Given the description of an element on the screen output the (x, y) to click on. 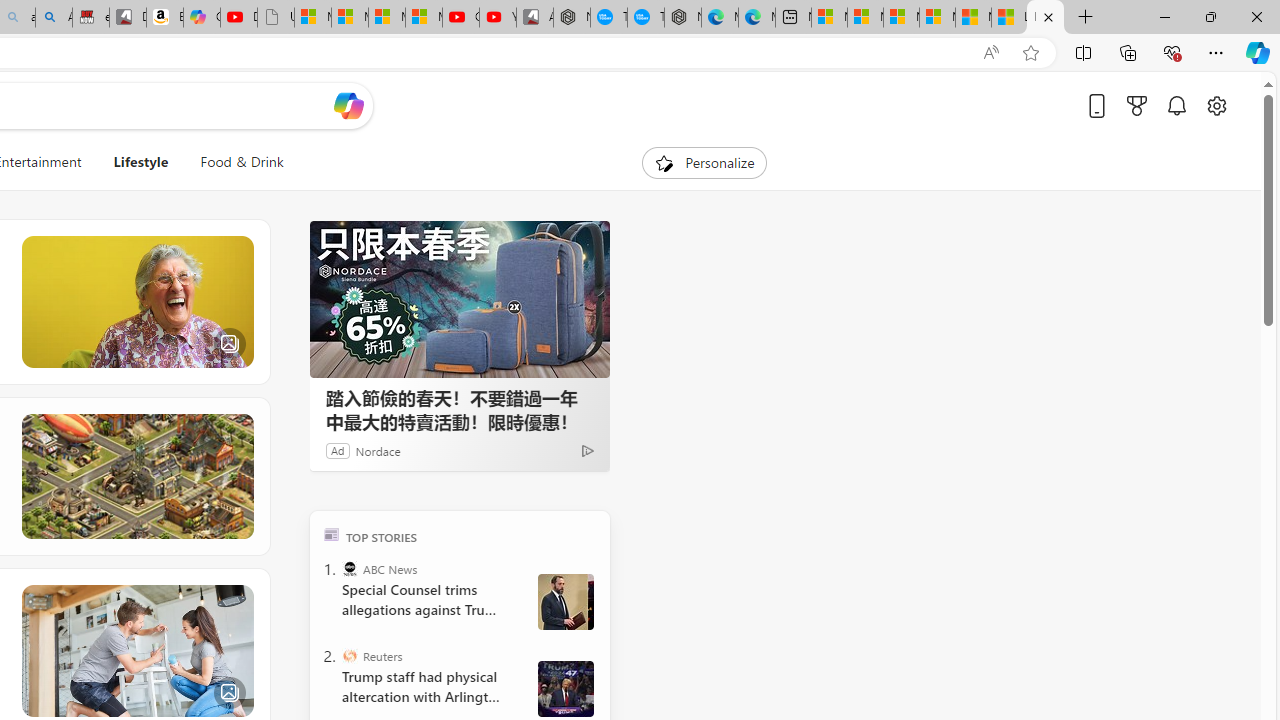
Microsoft account | Privacy (937, 17)
Gloom - YouTube (460, 17)
